Given the description of an element on the screen output the (x, y) to click on. 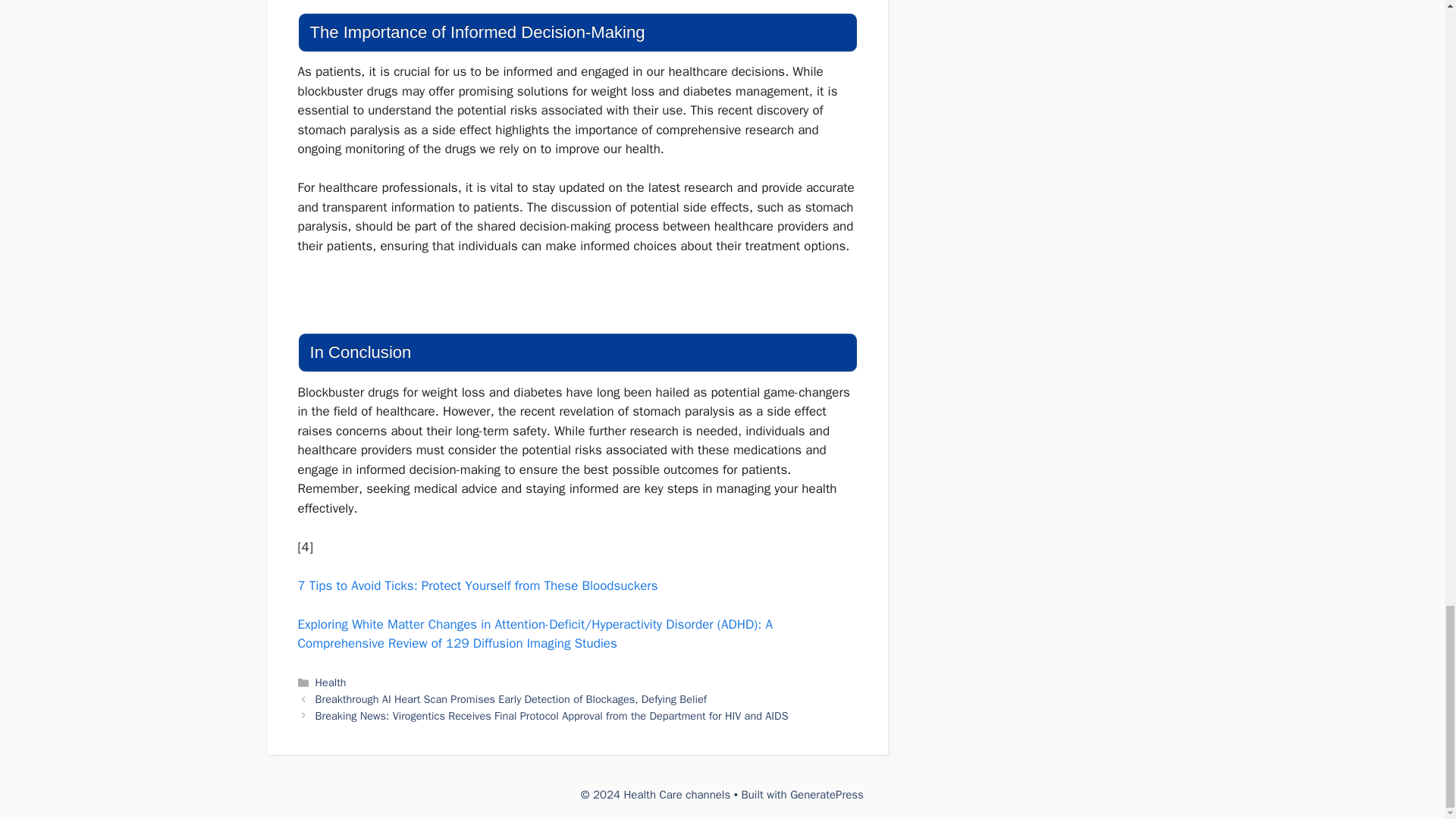
GeneratePress (826, 794)
Health (330, 682)
